Given the description of an element on the screen output the (x, y) to click on. 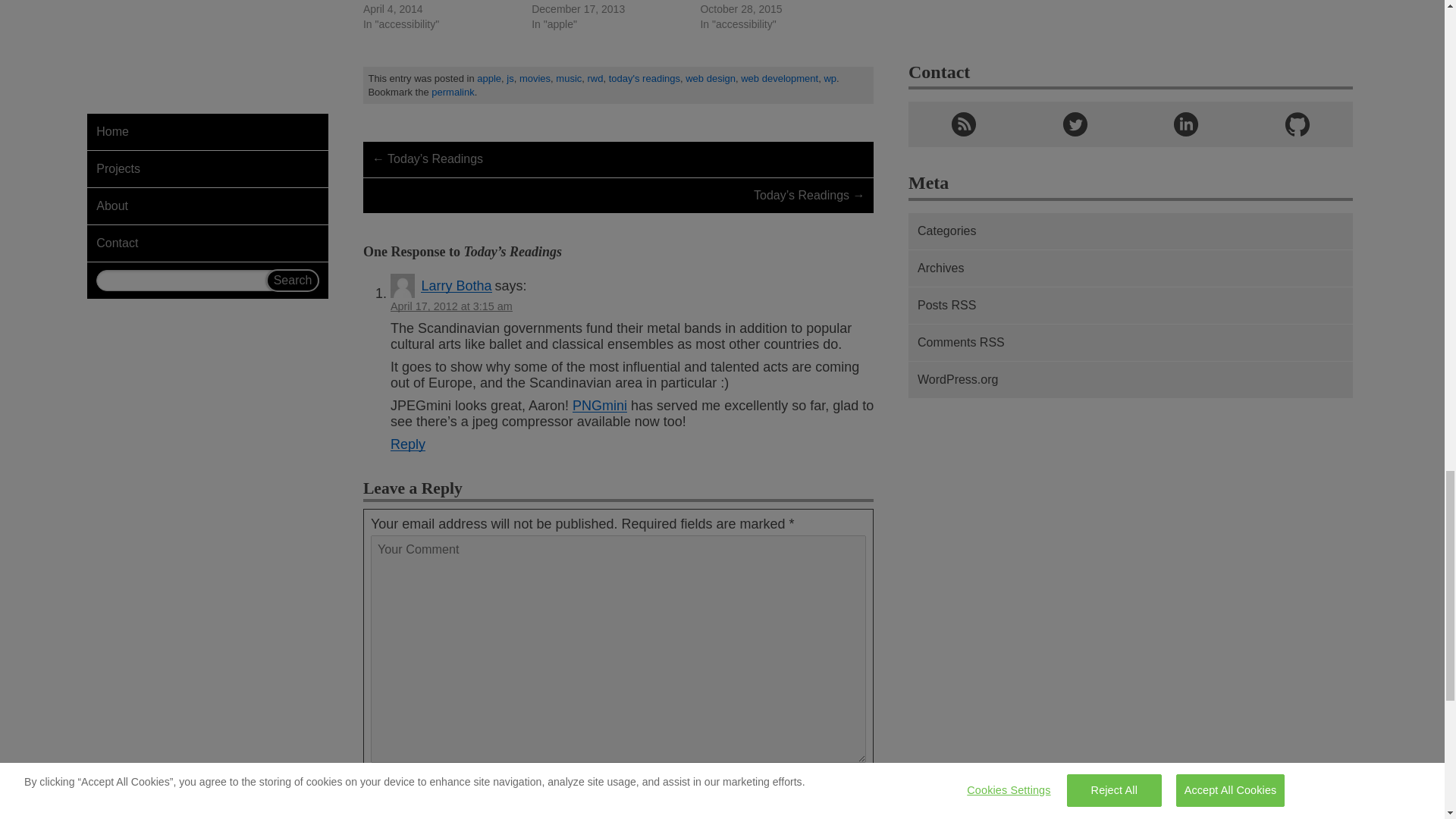
apple (488, 78)
